Given the description of an element on the screen output the (x, y) to click on. 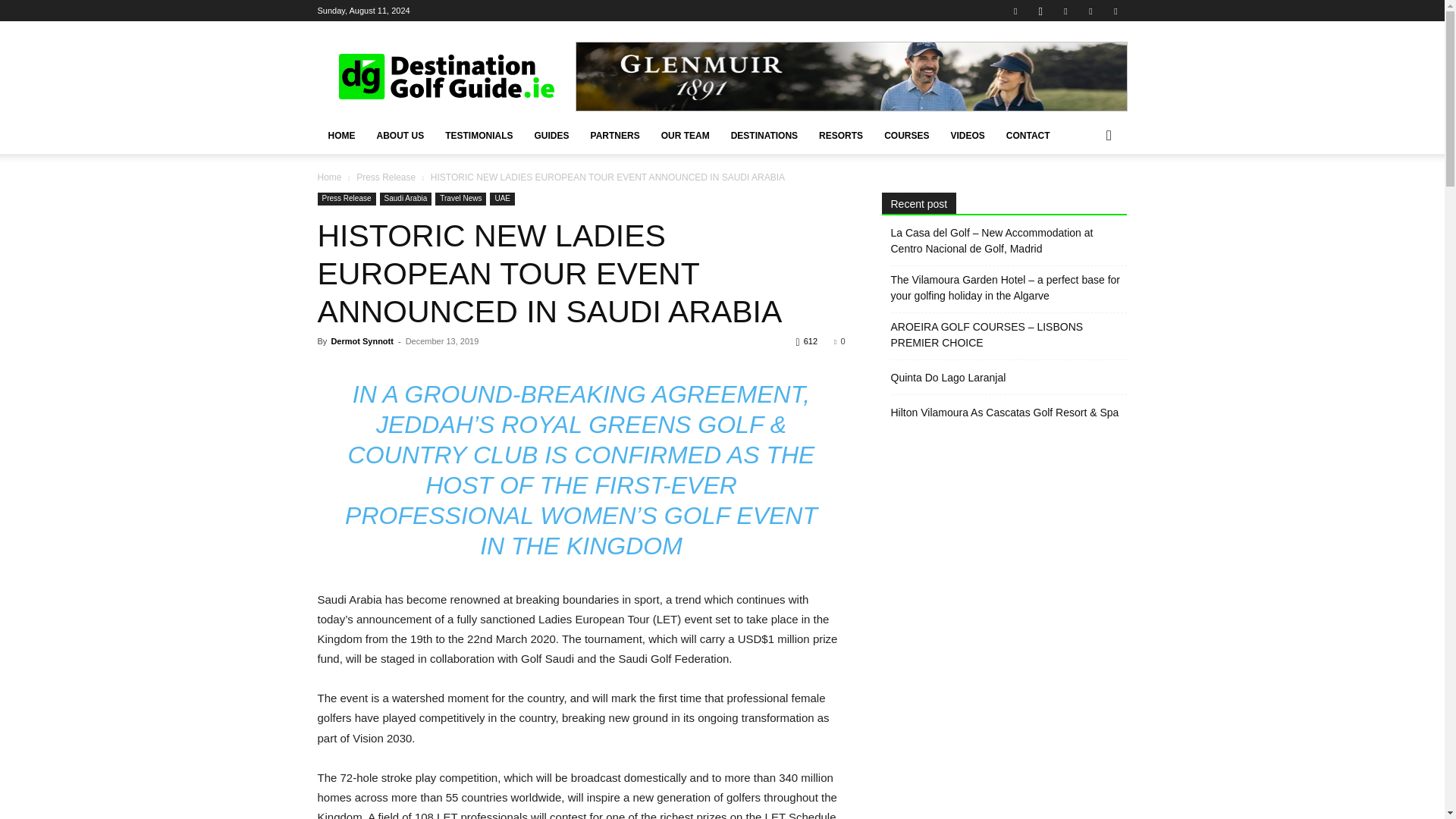
Twitter (1090, 10)
RESORTS (840, 135)
COURSES (906, 135)
DESTINATIONS (764, 135)
View all posts in Press Release (385, 176)
OUR TEAM (685, 135)
GUIDES (551, 135)
TESTIMONIALS (477, 135)
PARTNERS (614, 135)
VIDEOS (966, 135)
